Given the description of an element on the screen output the (x, y) to click on. 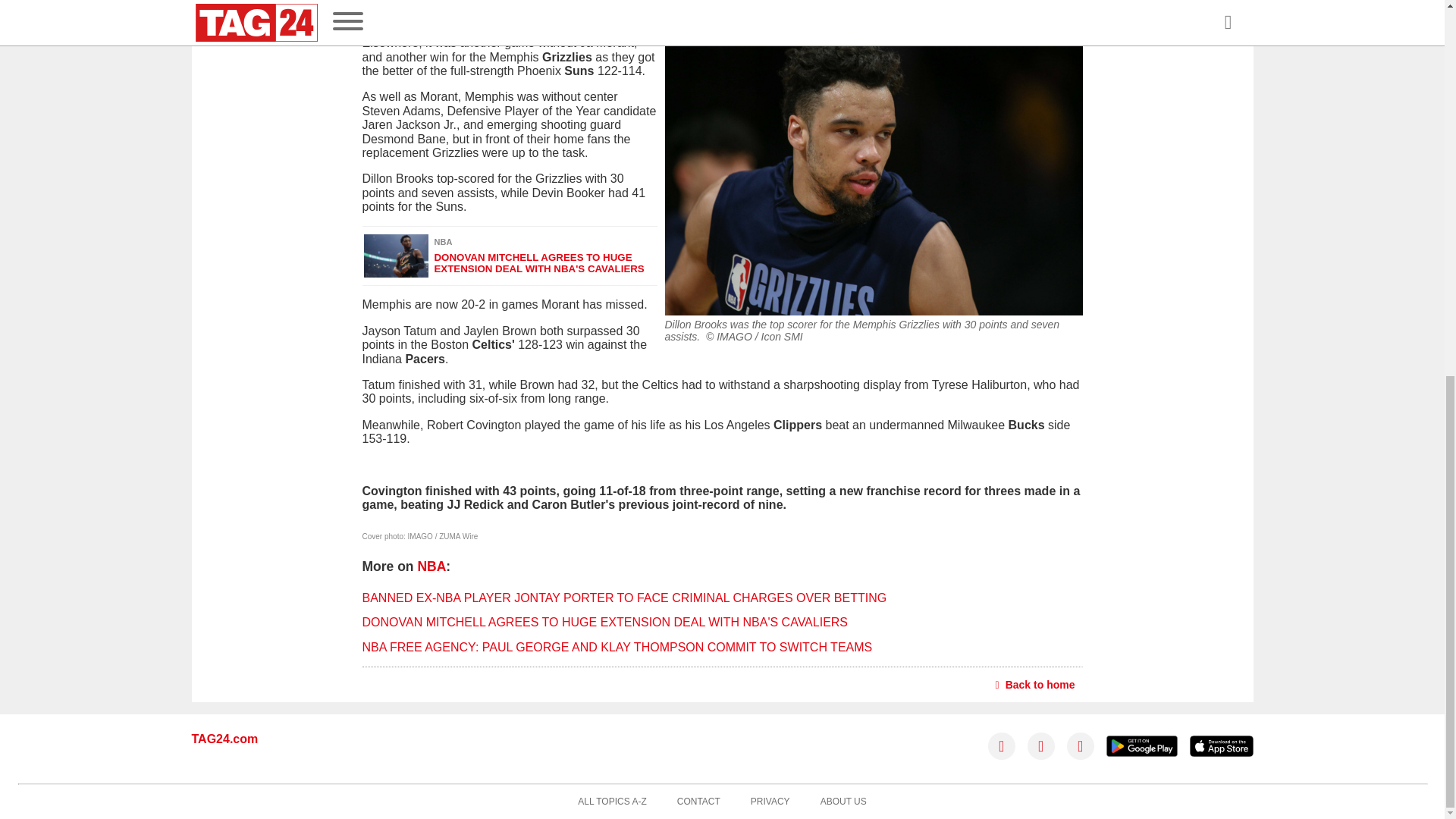
ALL TOPICS A-Z (612, 801)
Back to home (1035, 684)
PRIVACY (770, 801)
NBA (430, 566)
ABOUT US (843, 801)
CONTACT (698, 801)
